Given the description of an element on the screen output the (x, y) to click on. 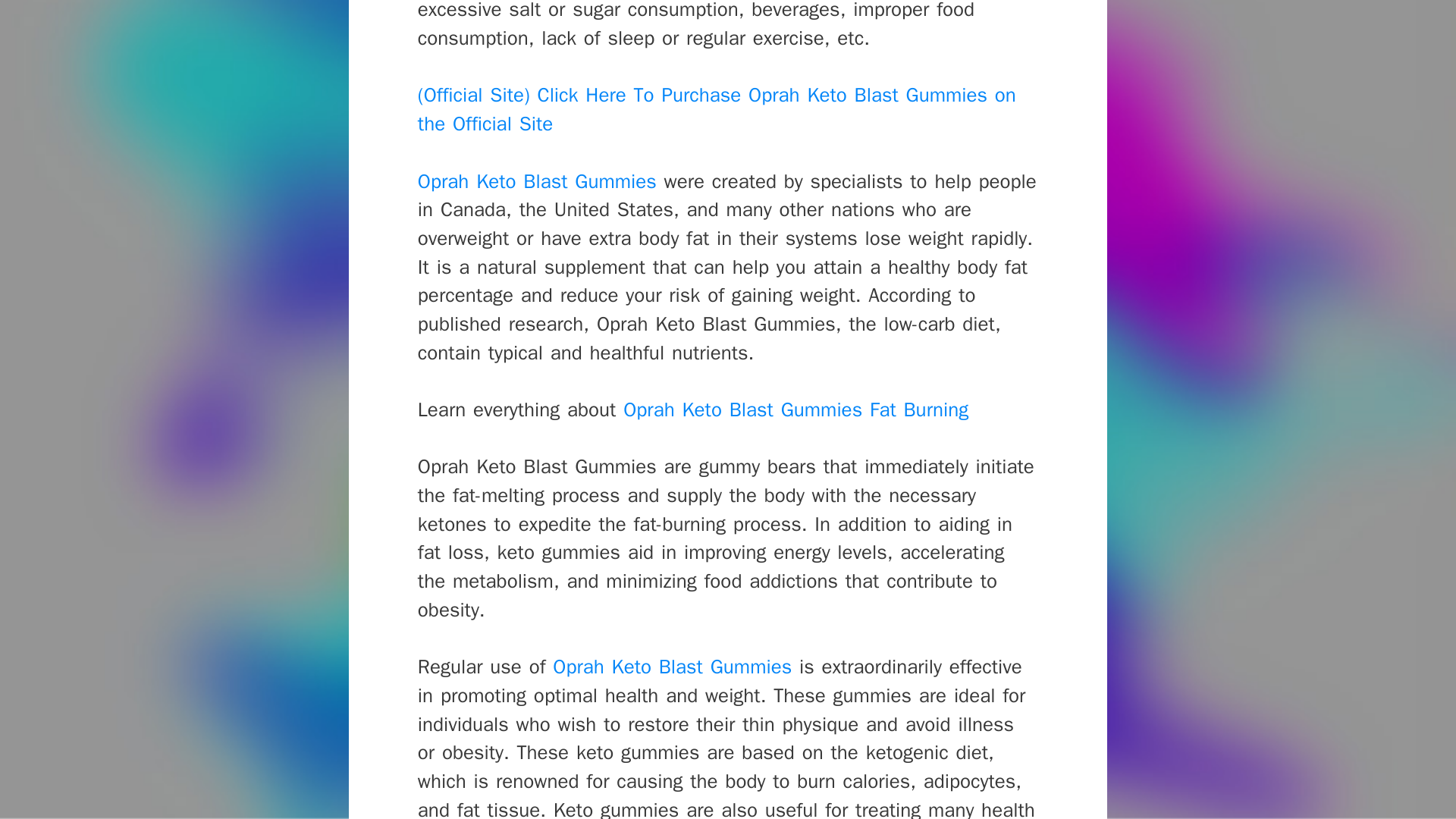
Oprah Keto Blast Gummies Fat Burning (795, 409)
Oprah Keto Blast Gummies (672, 666)
Oprah Keto Blast Gummies (536, 180)
